Given the description of an element on the screen output the (x, y) to click on. 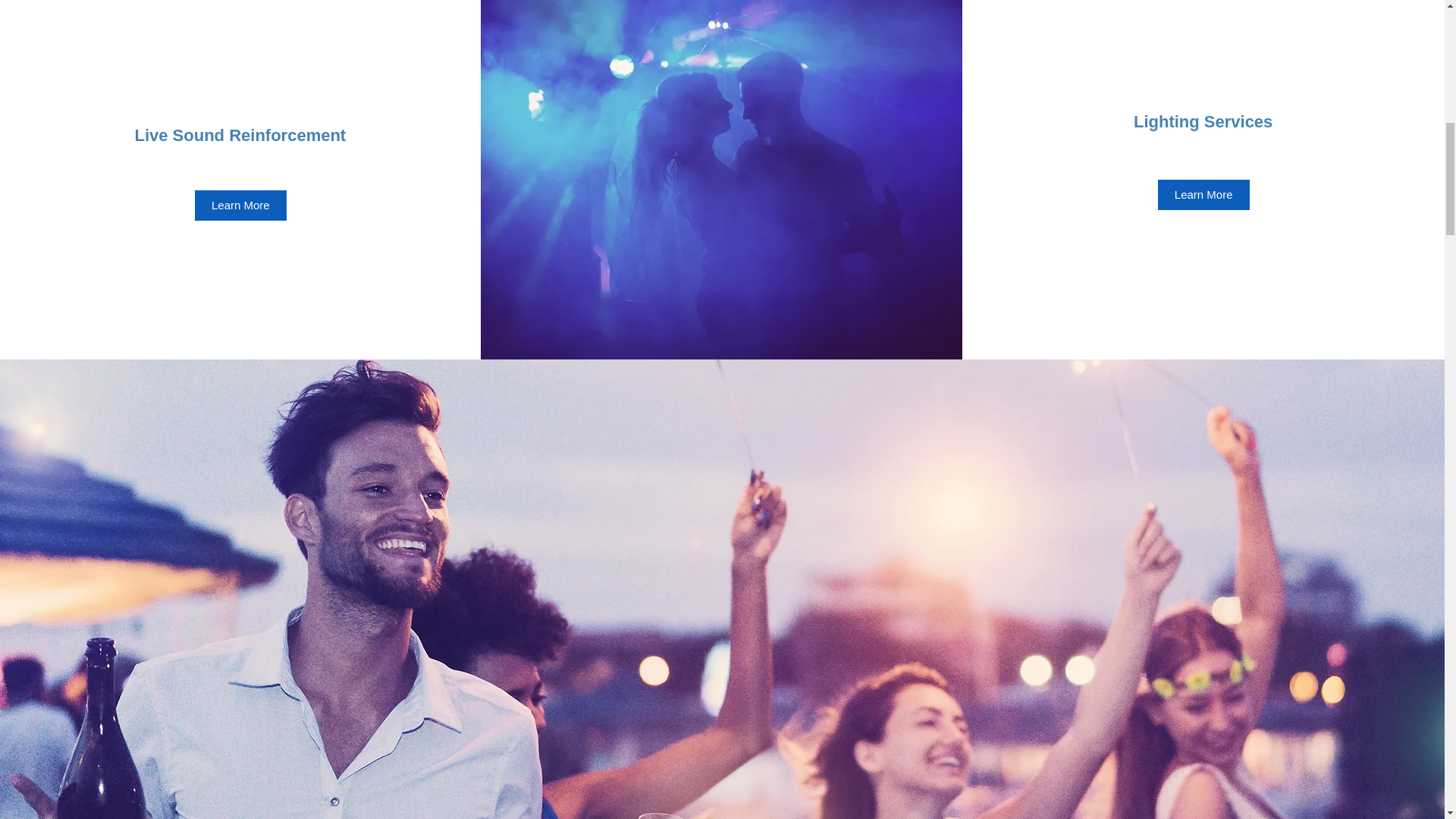
Learn More (1203, 194)
Learn More (240, 205)
